Given the description of an element on the screen output the (x, y) to click on. 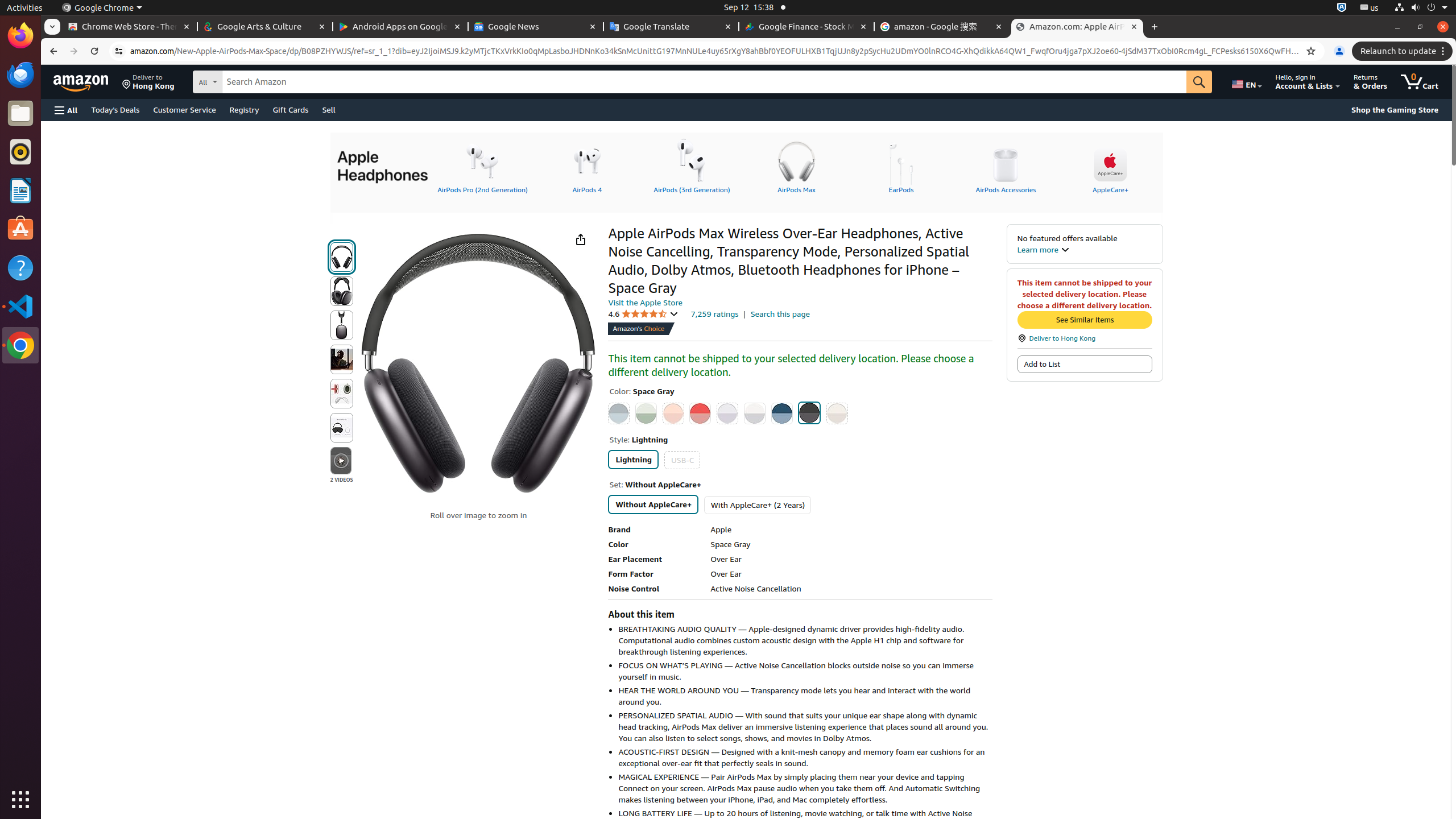
Add to List Element type: radio-button (1084, 363)
0 items in cart Element type: link (1419, 81)
Amazon.com: Apple AirPods Max Wireless Over-Ear Headphones, Active Noise Cancelling, Transparency Mode, Personalized Spatial Audio, Dolby Atmos, Bluetooth Headphones for iPhone – Space Gray : Electronics Element type: page-tab (1077, 26)
AirPods Pro (2nd Generation) Element type: link (482, 165)
Visual Studio Code Element type: push-button (20, 306)
